Given the description of an element on the screen output the (x, y) to click on. 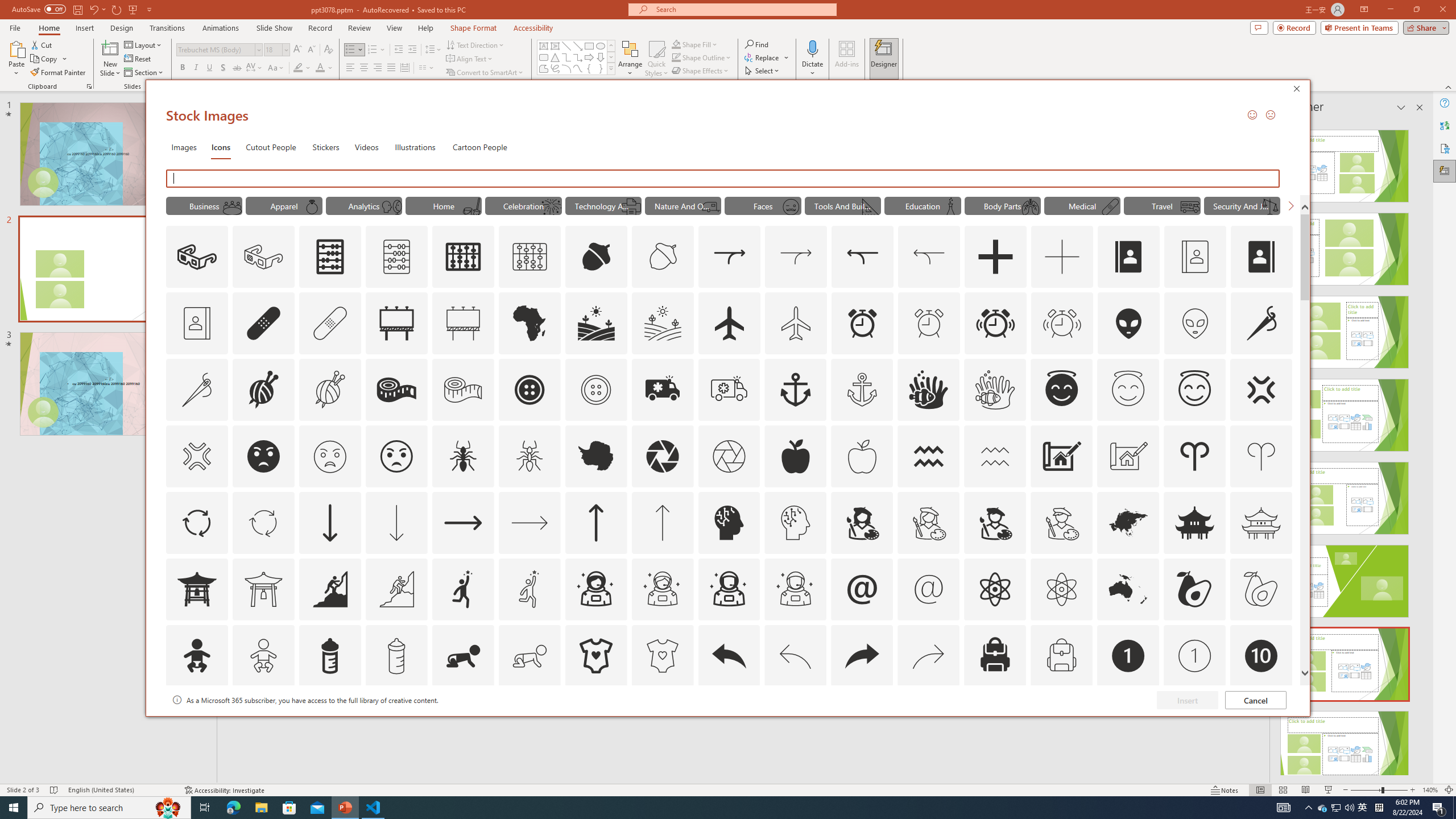
AutomationID: Icons_3dGlasses_M (263, 256)
AutomationID: Icons_AngerSymbol_M (196, 455)
AutomationID: Icons_Ant (462, 455)
Find... (756, 44)
AutomationID: Icons_Backpack_M (1061, 655)
